Given the description of an element on the screen output the (x, y) to click on. 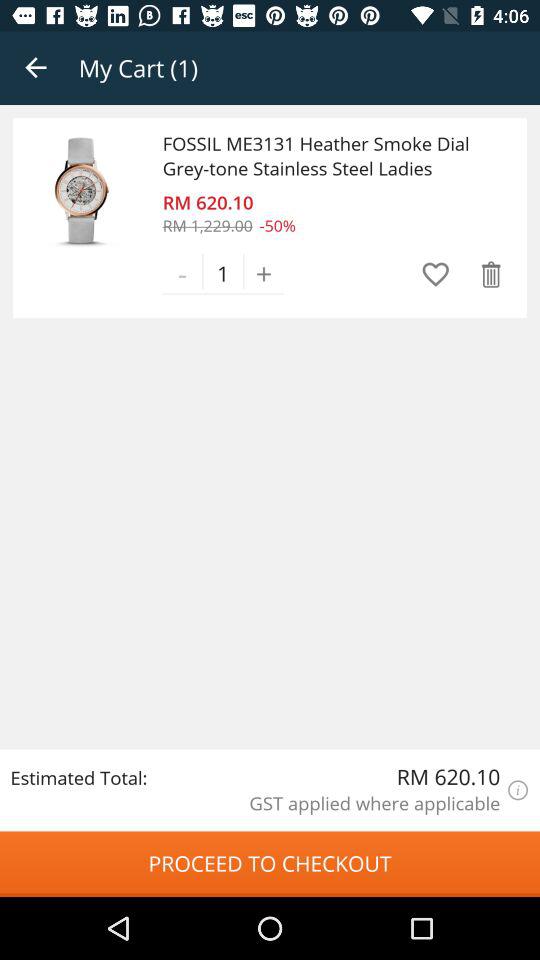
turn off the icon to the left of the fossil me3131 heather item (82, 190)
